Given the description of an element on the screen output the (x, y) to click on. 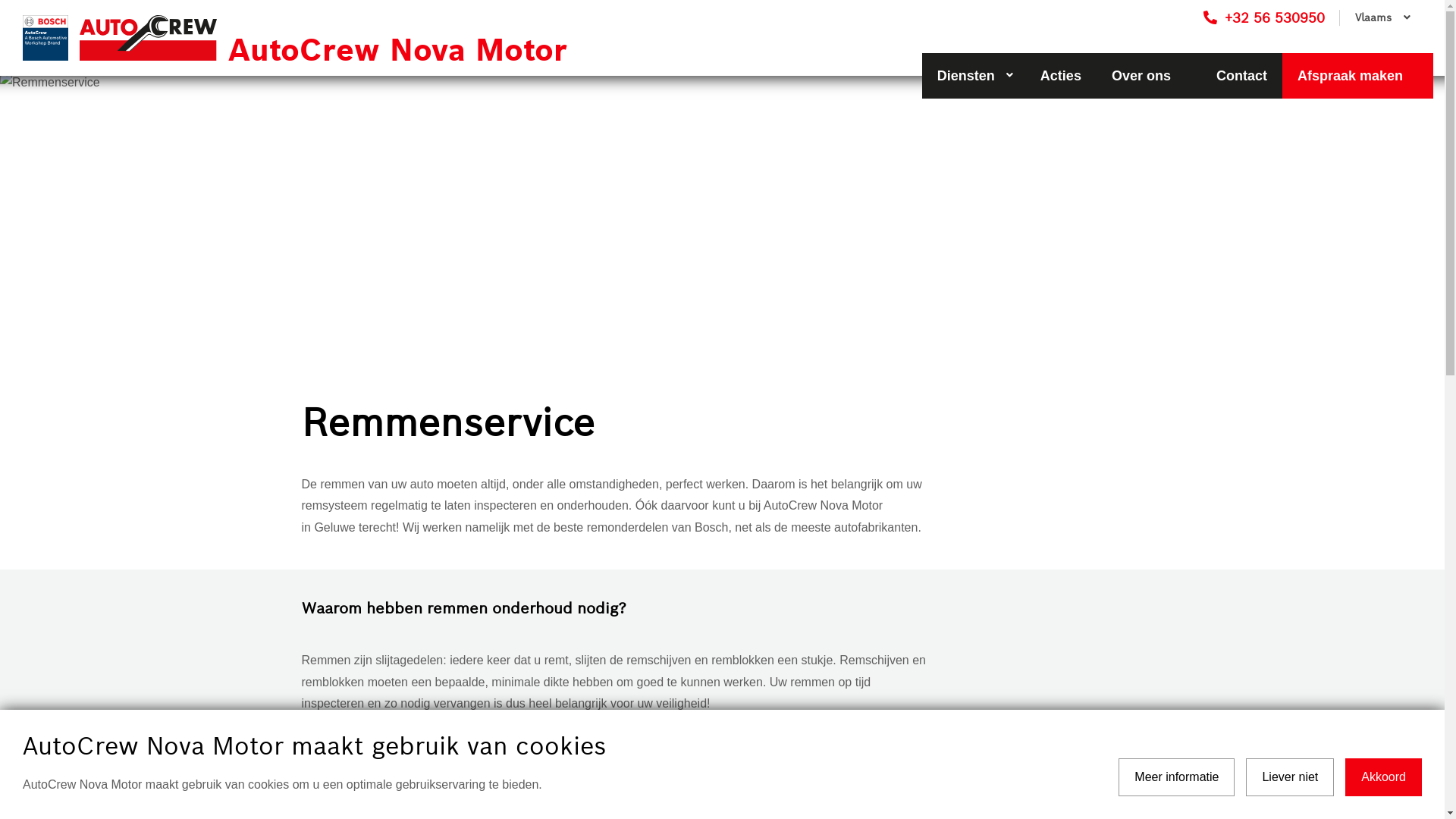
Meer informatie Element type: text (1176, 777)
remonderdelen Element type: text (628, 526)
Akkoord Element type: text (1383, 777)
+32 56 530950 Element type: text (1263, 17)
Diensten Element type: text (973, 75)
Contact Element type: text (1241, 75)
Acties Element type: text (1060, 75)
Skip to main content Element type: text (0, 0)
Over ons Element type: text (1148, 75)
Afspraak maken Element type: text (1357, 75)
Liever niet Element type: text (1289, 777)
AutoCrew Nova Motor Element type: text (366, 37)
Vlaams Element type: text (1380, 17)
